Given the description of an element on the screen output the (x, y) to click on. 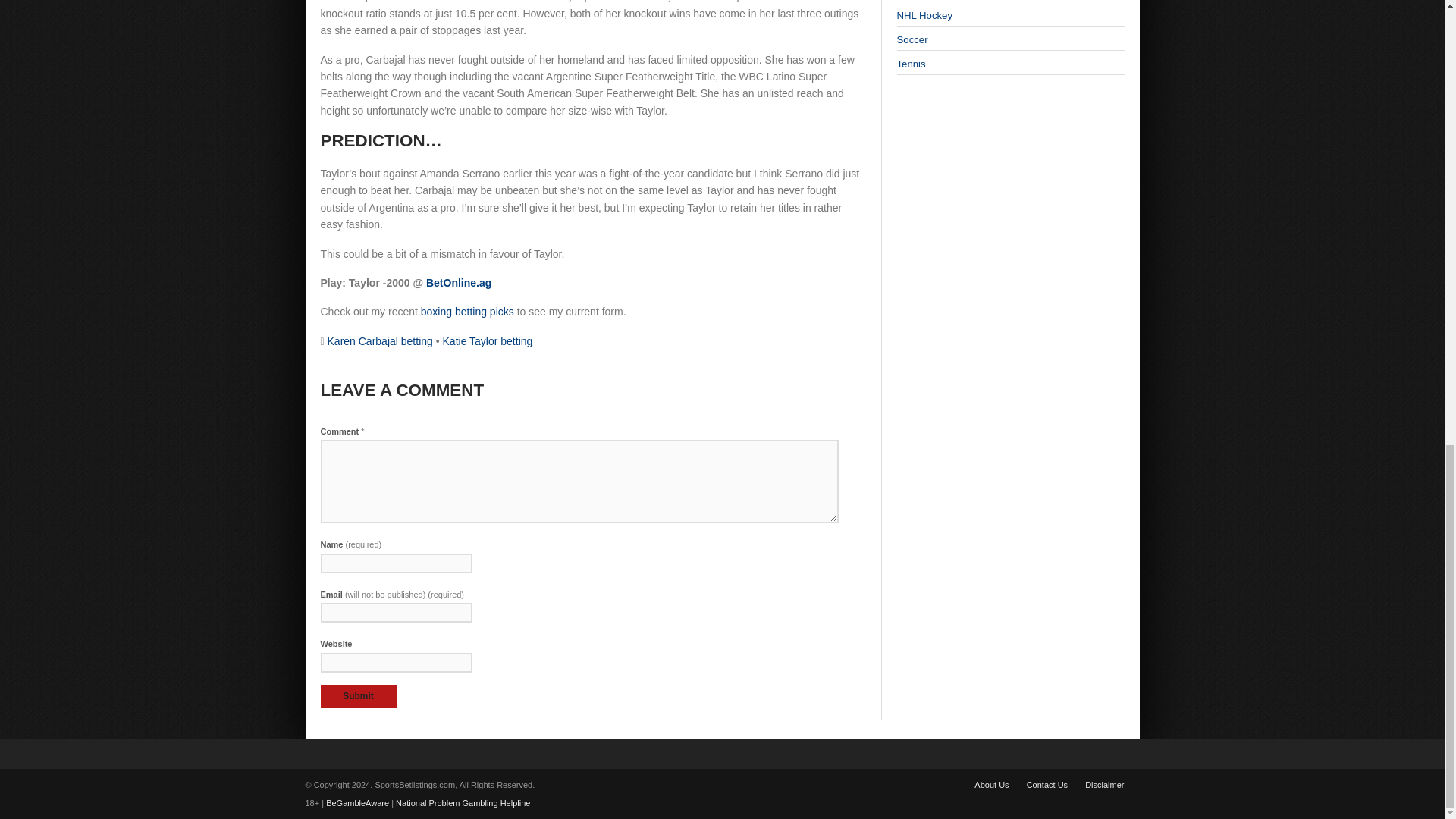
boxing betting picks (466, 311)
BetOnline.ag (459, 282)
Karen Carbajal betting (379, 340)
Submit (358, 695)
Katie Taylor betting (487, 340)
Submit (358, 695)
NHL Betting (924, 15)
